Given the description of an element on the screen output the (x, y) to click on. 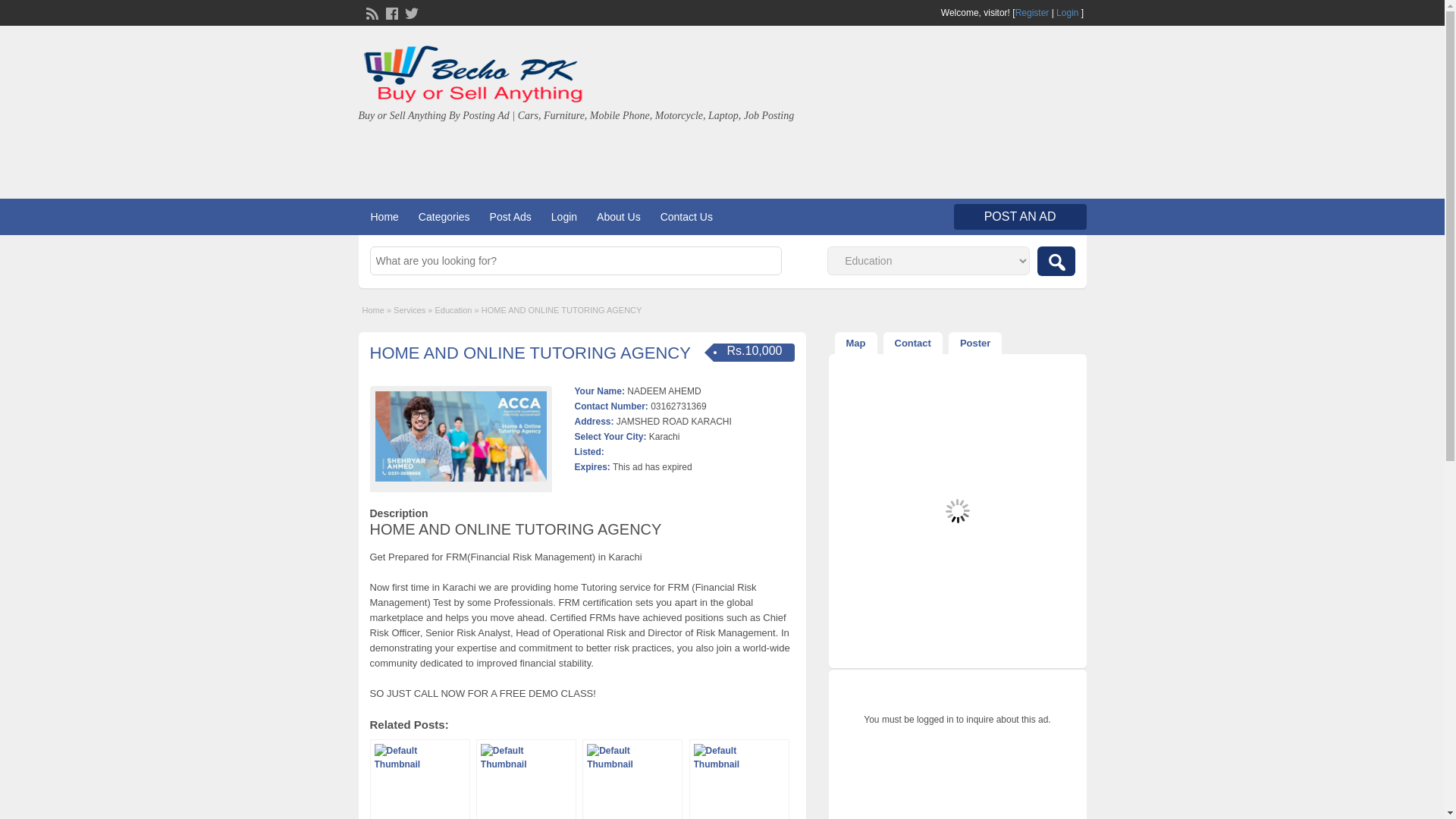
Login (1067, 12)
Home (384, 216)
Register (1031, 12)
RSS Feed (369, 11)
Facebook (390, 11)
Categories (443, 216)
Twitter (408, 11)
